Given the description of an element on the screen output the (x, y) to click on. 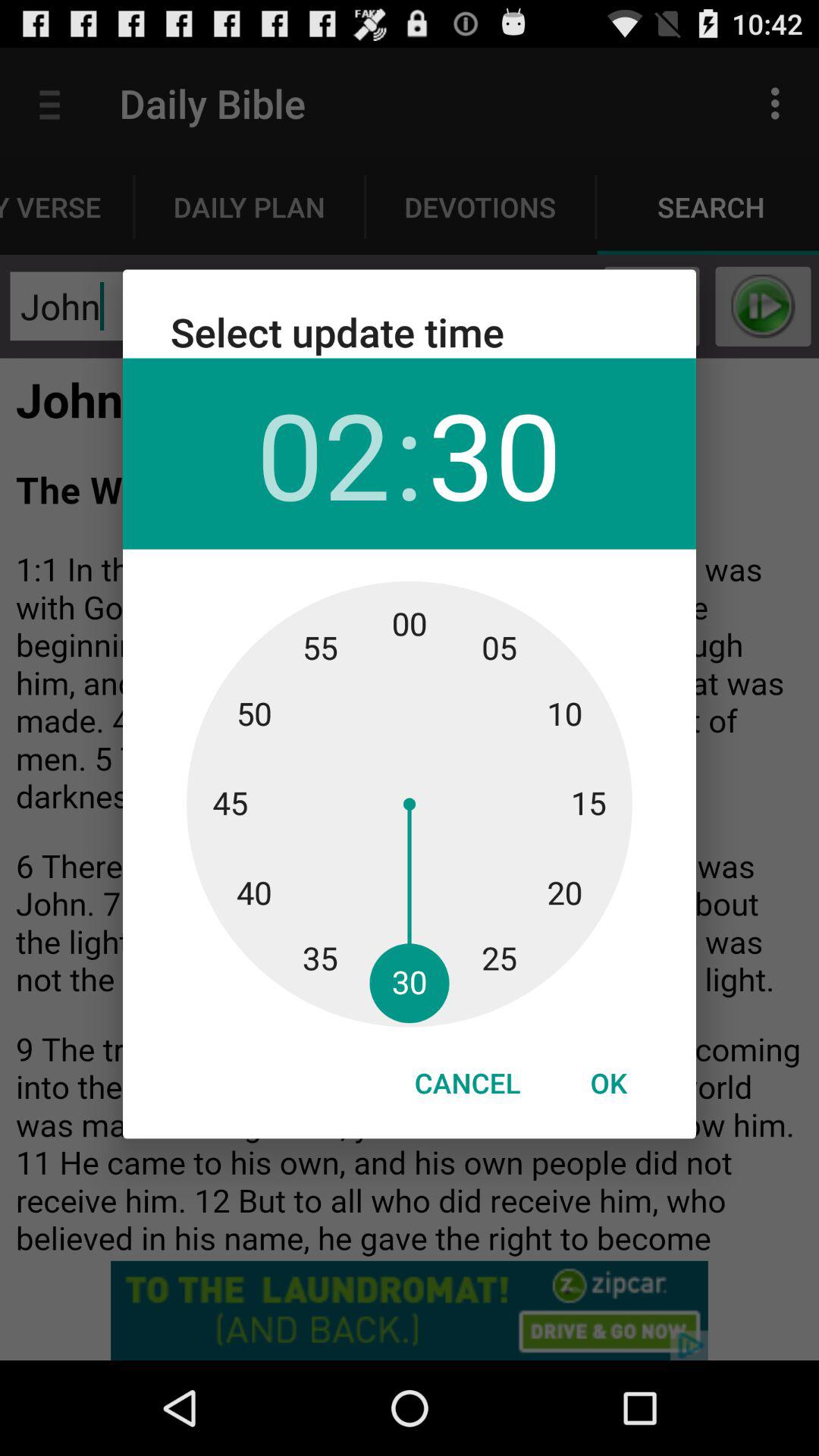
launch the icon below the select update time icon (323, 453)
